Given the description of an element on the screen output the (x, y) to click on. 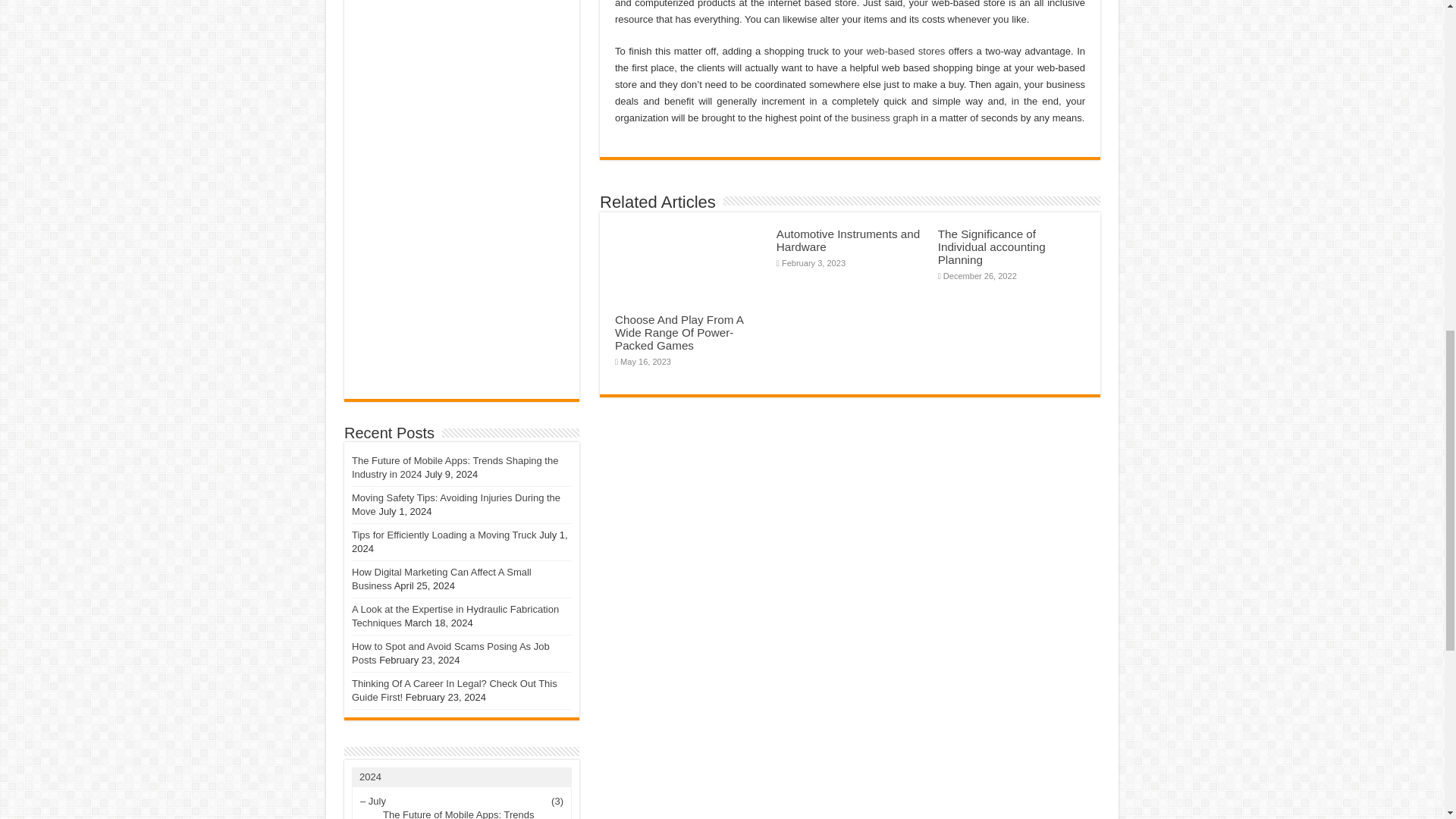
web-based stores (905, 50)
